Given the description of an element on the screen output the (x, y) to click on. 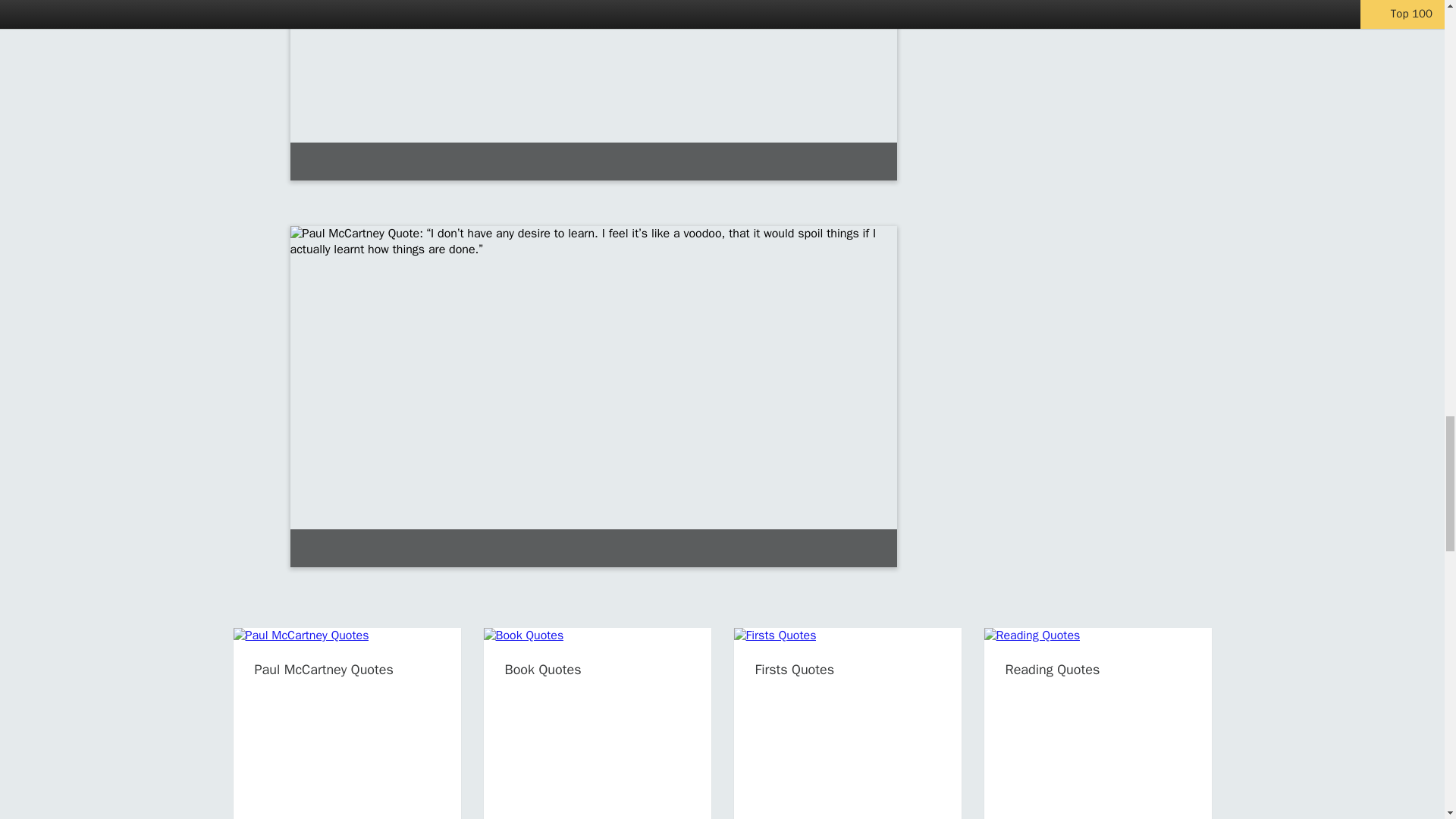
Reading Quotes (1053, 669)
Paul McCartney Quotes (323, 669)
Firsts Quotes (794, 669)
Book Quotes (542, 669)
